Given the description of an element on the screen output the (x, y) to click on. 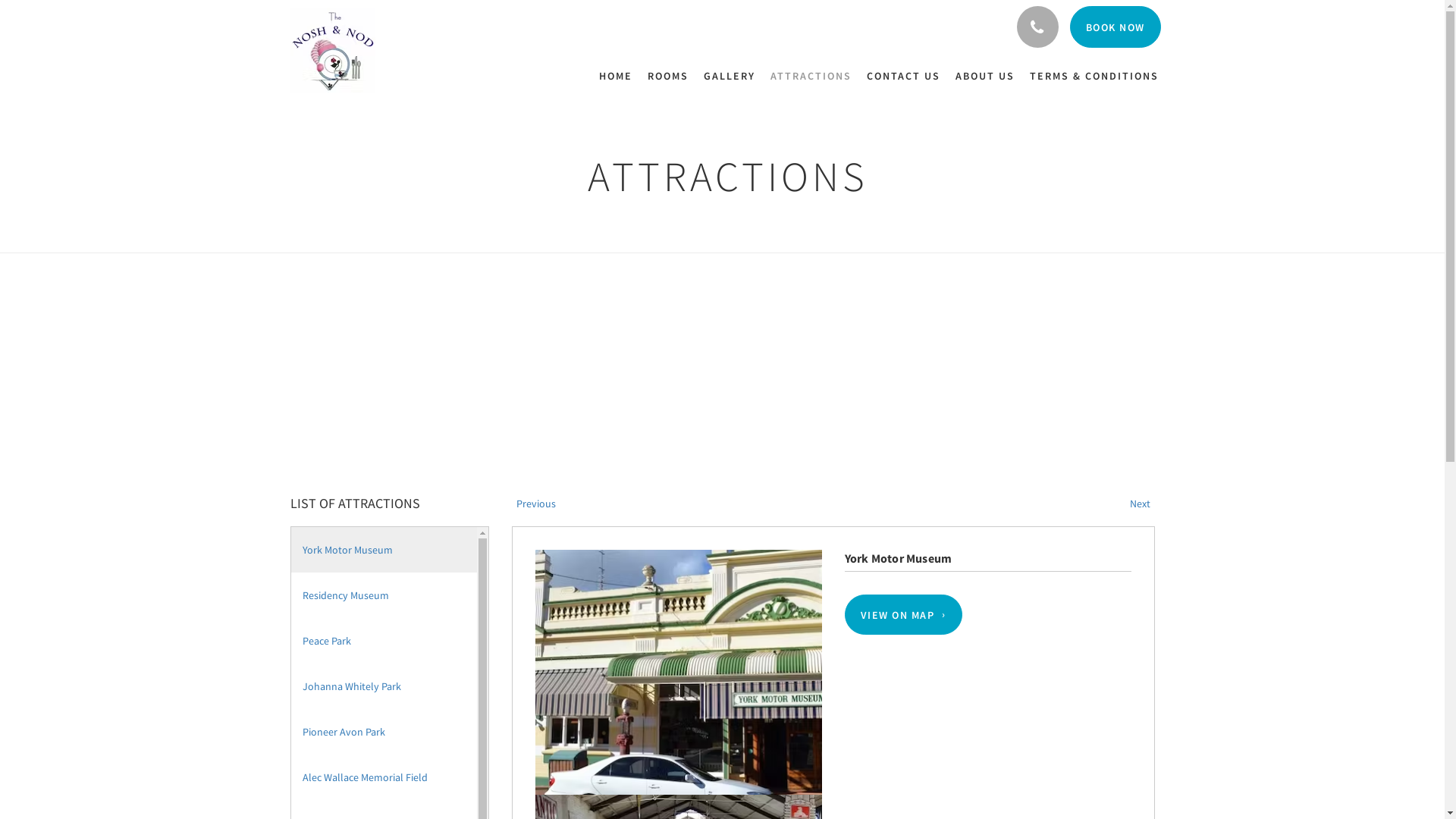
York Motor Museum Element type: text (384, 549)
ROOMS Element type: text (668, 75)
Johanna Whitely Park Element type: text (384, 686)
CONTACT US Element type: text (902, 75)
TERMS & CONDITIONS Element type: text (1094, 75)
HOME Element type: text (619, 75)
Pioneer Avon Park Element type: text (384, 731)
Next   Element type: text (1141, 503)
ABOUT US Element type: text (984, 75)
GALLERY Element type: text (729, 75)
ATTRACTIONS Element type: text (810, 75)
Peace Park Element type: text (384, 640)
Alec Wallace Memorial Field Element type: text (384, 777)
  Previous Element type: text (533, 503)
VIEW ON MAP Element type: text (903, 614)
BOOK NOW Element type: text (1114, 26)
Residency Museum Element type: text (384, 595)
